Given the description of an element on the screen output the (x, y) to click on. 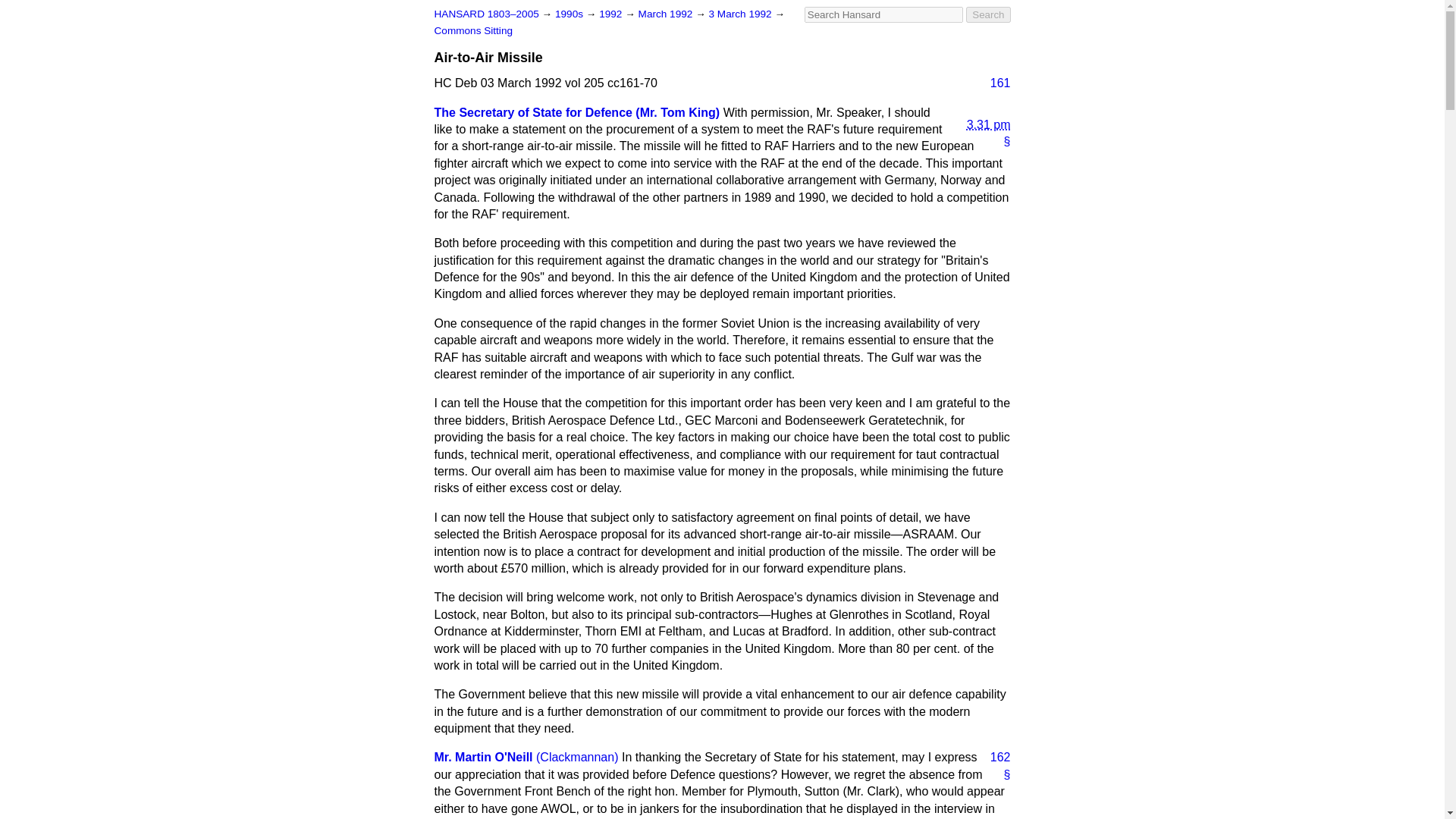
1990s (570, 13)
Search (988, 14)
Mr. Martin O'Neill (482, 757)
1992-03-03T15:31:00Z (982, 118)
Commons Sitting (472, 30)
March 1992 (667, 13)
Clackmannan (576, 757)
Access key: S (883, 14)
1992 (611, 13)
161 (994, 83)
